Given the description of an element on the screen output the (x, y) to click on. 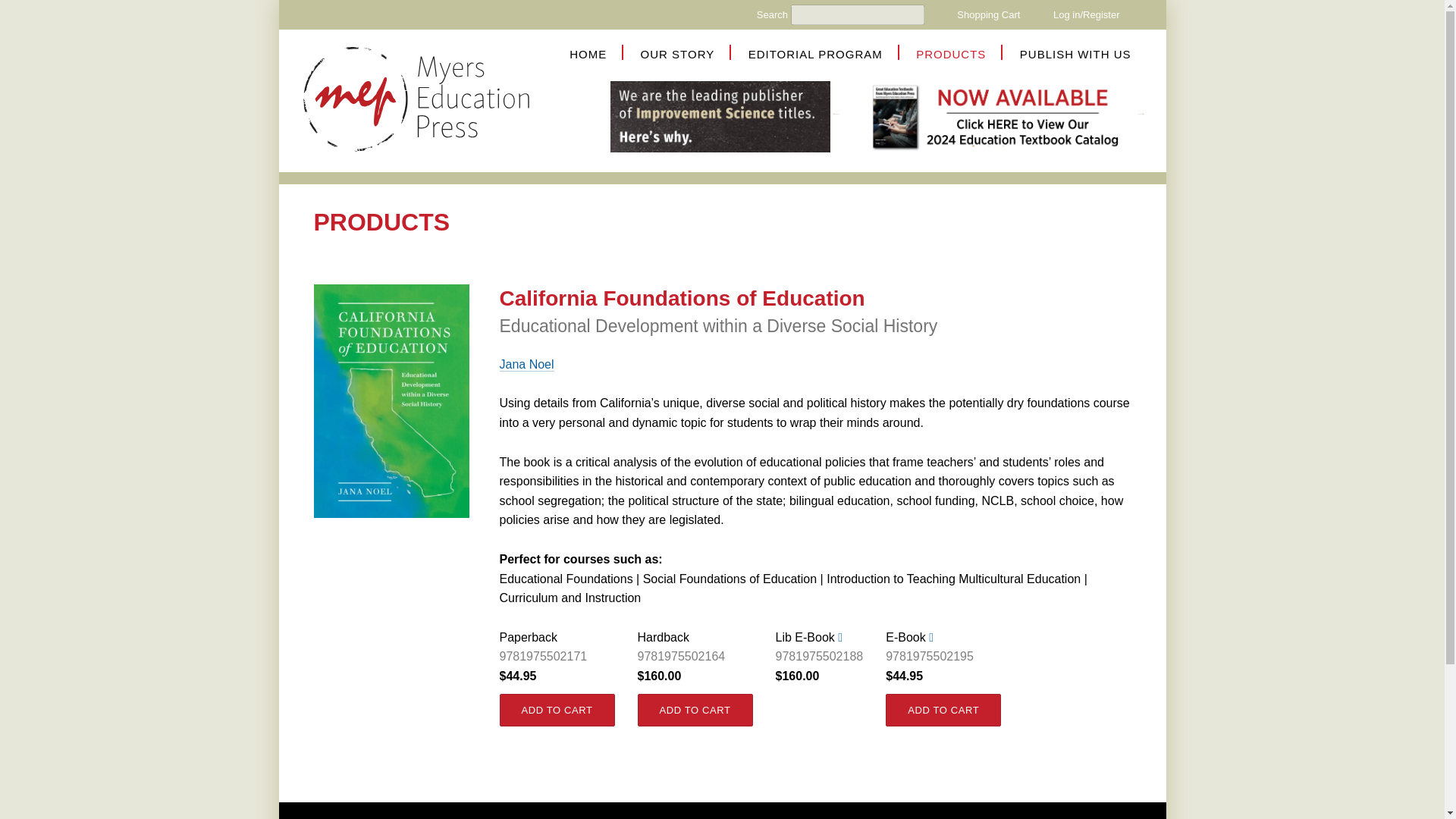
1 (973, 145)
California Foundations of Education (681, 298)
Shopping Cart (988, 14)
EDITORIAL PROGRAM (815, 53)
ADD TO CART (556, 709)
Jana Noel (526, 364)
2 (988, 145)
PRODUCTS (950, 53)
HOME (588, 53)
Previous (838, 113)
